Given the description of an element on the screen output the (x, y) to click on. 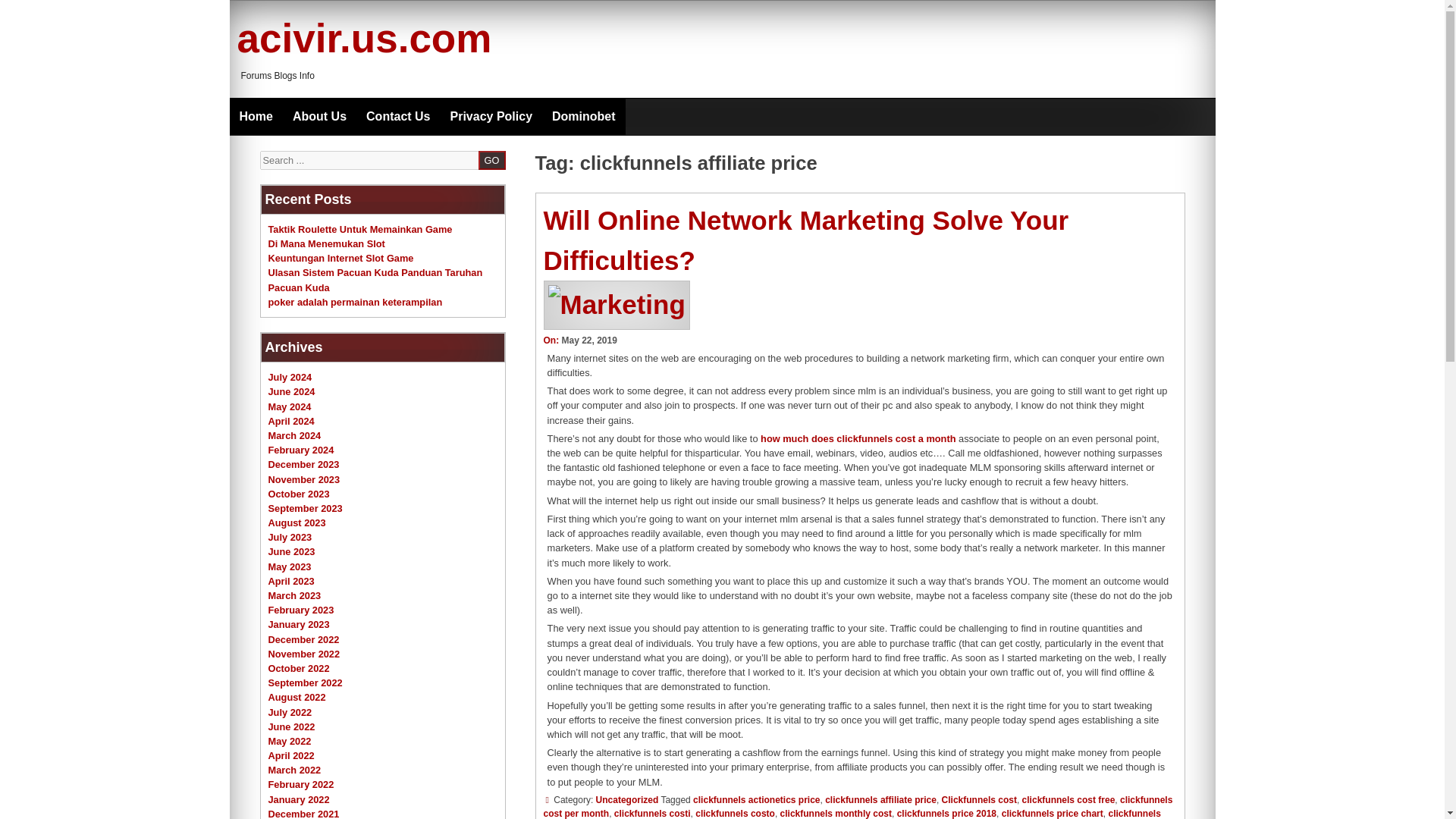
clickfunnels costi (652, 813)
acivir.us.com (363, 37)
clickfunnels actionetics price (756, 799)
About Us (319, 116)
clickfunnels price chart (1052, 813)
Home (255, 116)
GO (492, 158)
clickfunnels costo (734, 813)
Contact Us (397, 116)
May 22, 2019 (587, 339)
Dominobet (583, 116)
Clickfunnels cost (979, 799)
clickfunnels price table (851, 813)
Privacy Policy (492, 116)
clickfunnels cost free (1068, 799)
